Given the description of an element on the screen output the (x, y) to click on. 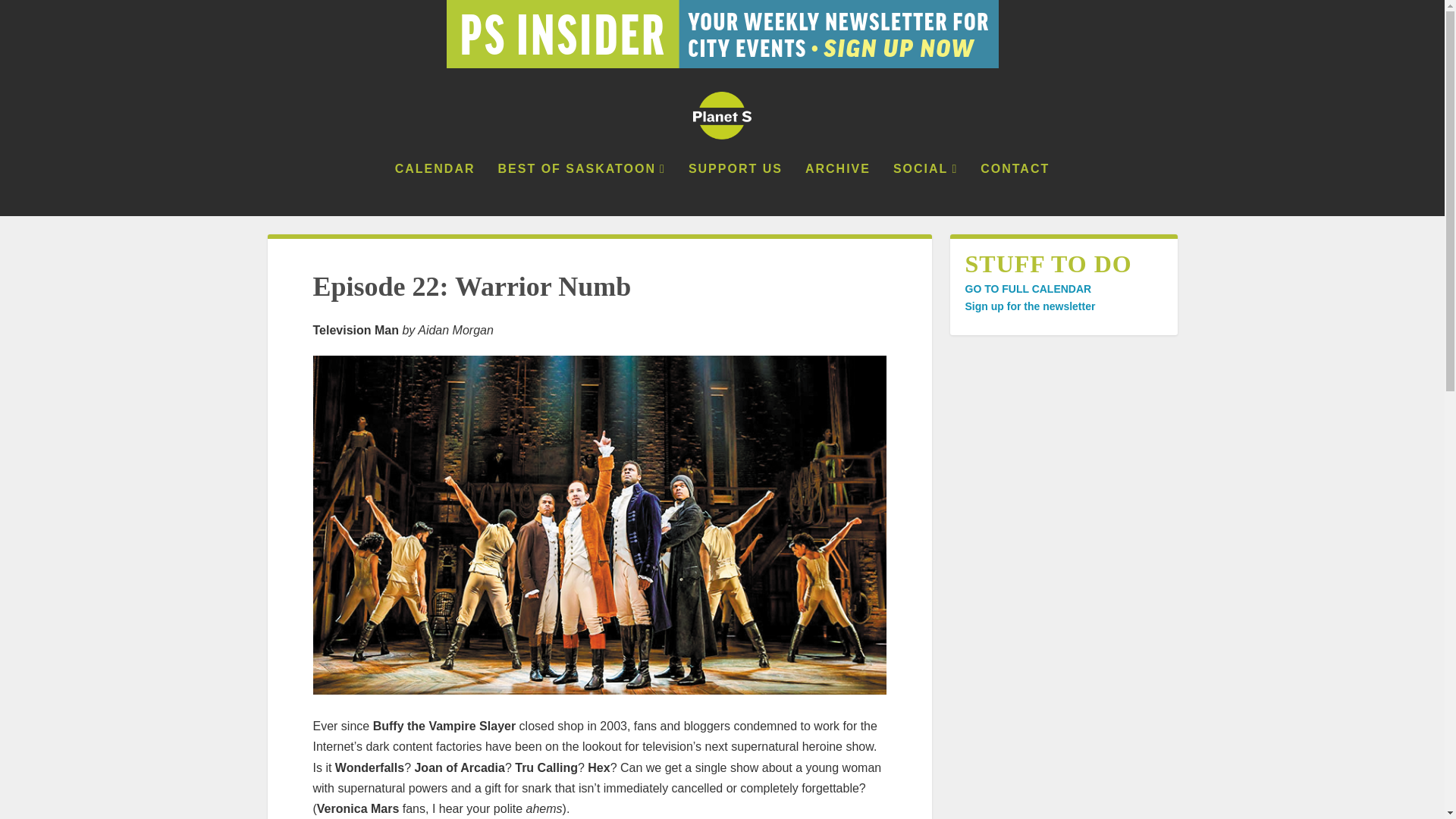
Sign up for the newsletter (1028, 306)
SOCIAL (925, 189)
CONTACT (1014, 189)
GO TO FULL CALENDAR (1026, 288)
SUPPORT US (735, 189)
ARCHIVE (837, 189)
BEST OF SASKATOON (581, 189)
CALENDAR (435, 189)
